Given the description of an element on the screen output the (x, y) to click on. 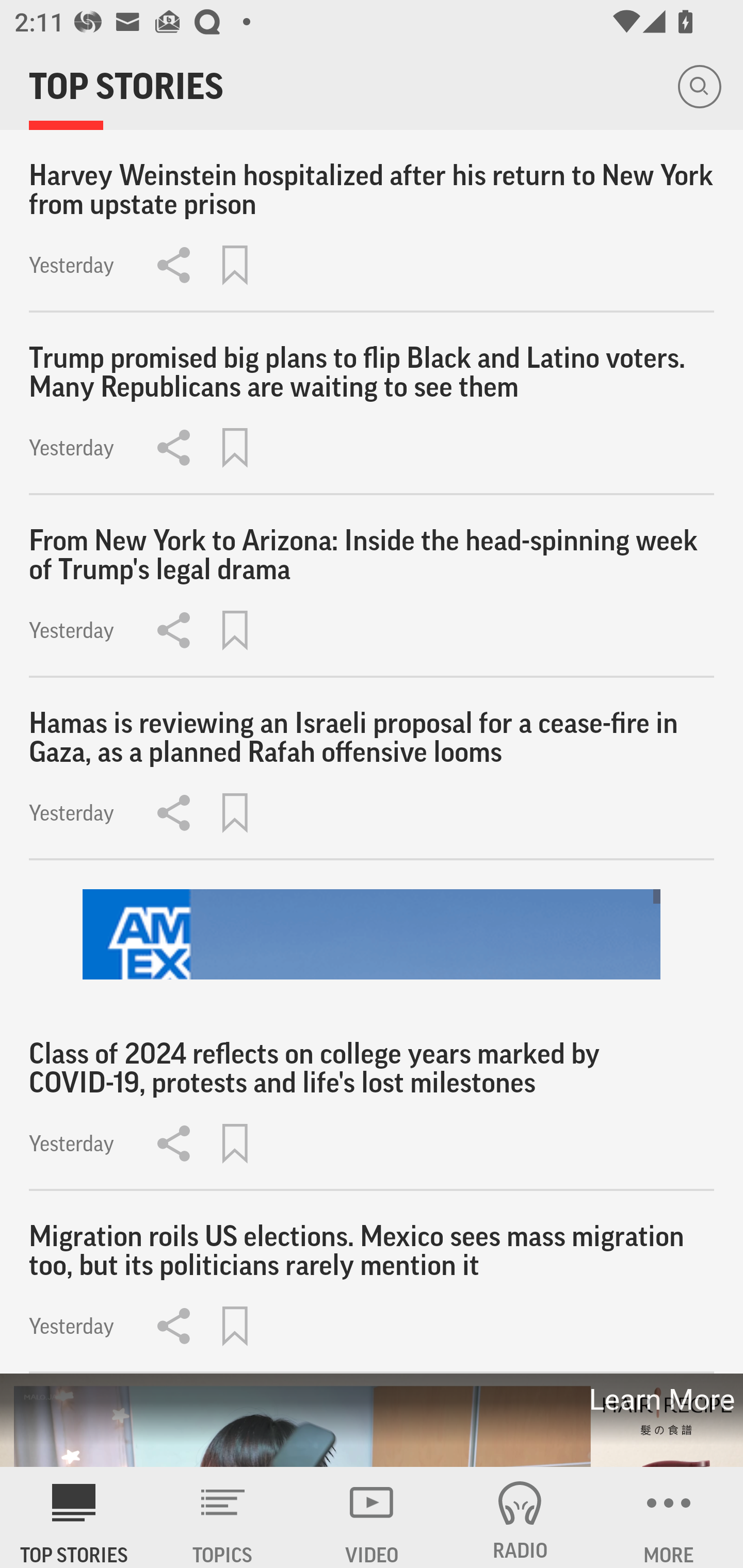
6617a94004d5672cf07b09d7 (371, 934)
Learn More (660, 1399)
AP News TOP STORIES (74, 1517)
TOPICS (222, 1517)
VIDEO (371, 1517)
RADIO (519, 1517)
MORE (668, 1517)
